Given the description of an element on the screen output the (x, y) to click on. 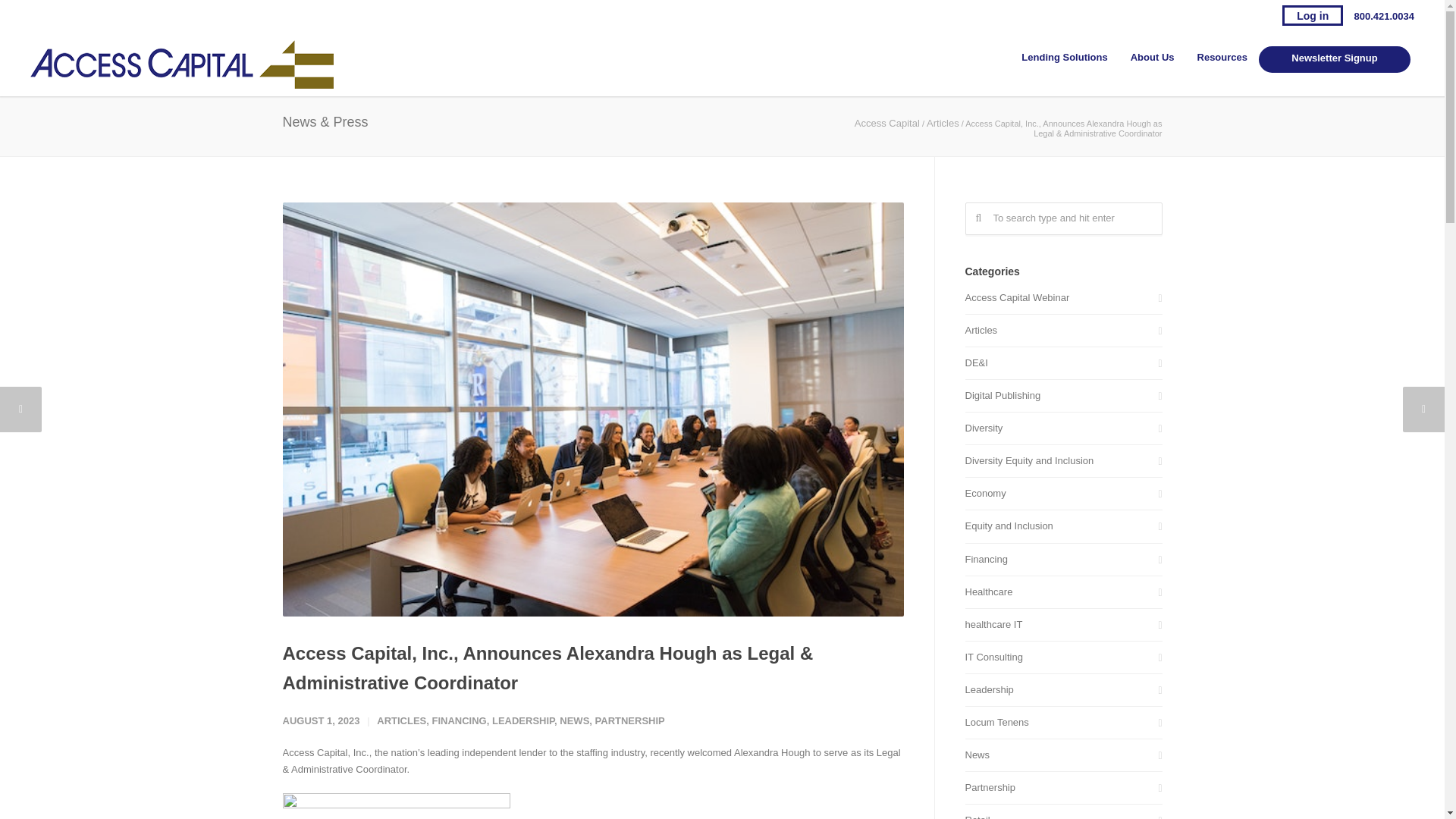
Access Capital (887, 122)
Newsletter Signup (1335, 58)
About Us (1152, 57)
Lending Solutions (1064, 57)
FINANCING (458, 720)
Log in (1312, 14)
Articles (942, 122)
Resources (1222, 57)
To search type and hit enter (1062, 218)
LEADERSHIP (523, 720)
